Given the description of an element on the screen output the (x, y) to click on. 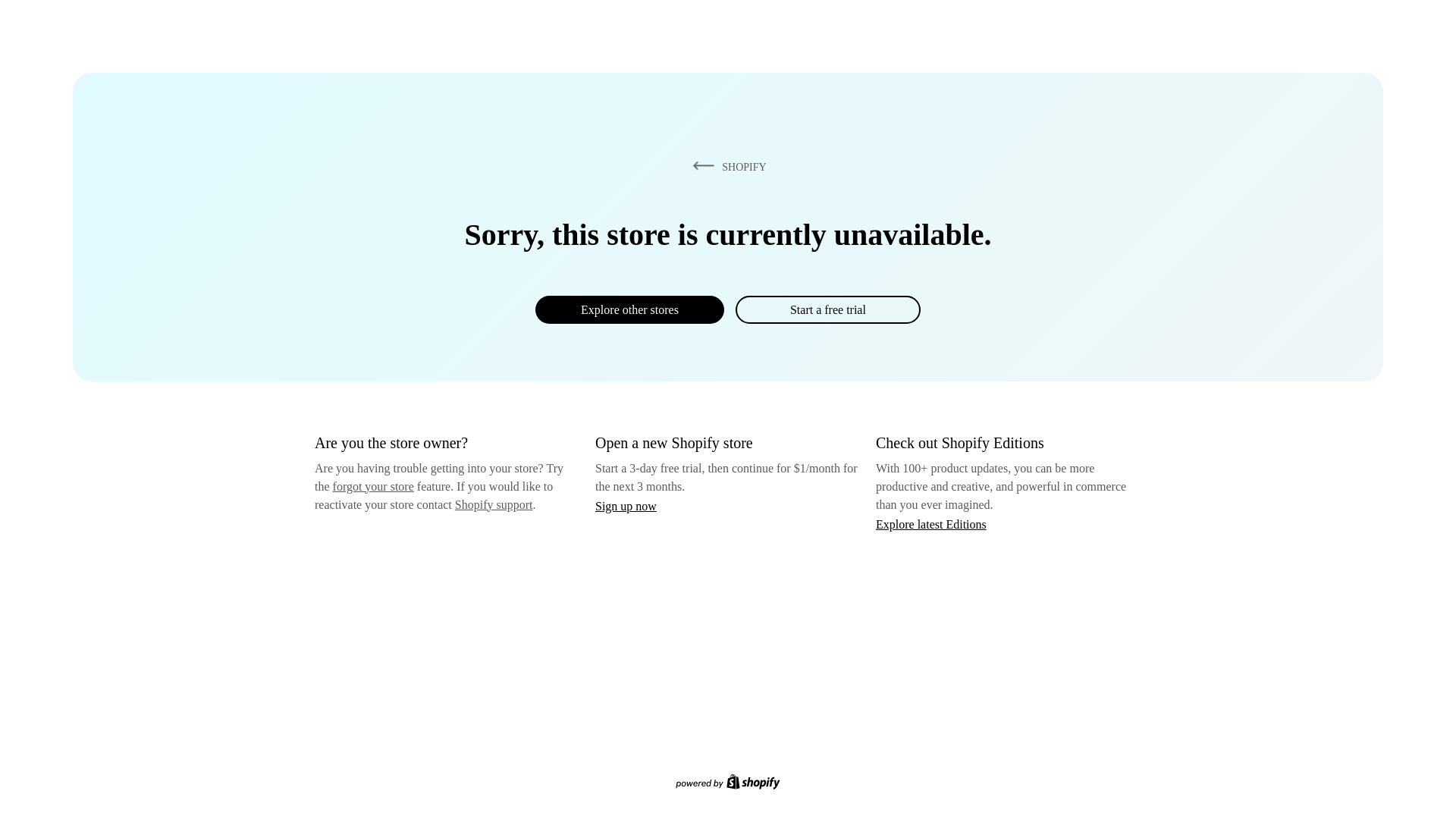
Explore latest Editions (931, 523)
Start a free trial (827, 309)
forgot your store (373, 486)
SHOPIFY (726, 166)
Shopify support (493, 504)
Sign up now (625, 505)
Explore other stores (629, 309)
